Given the description of an element on the screen output the (x, y) to click on. 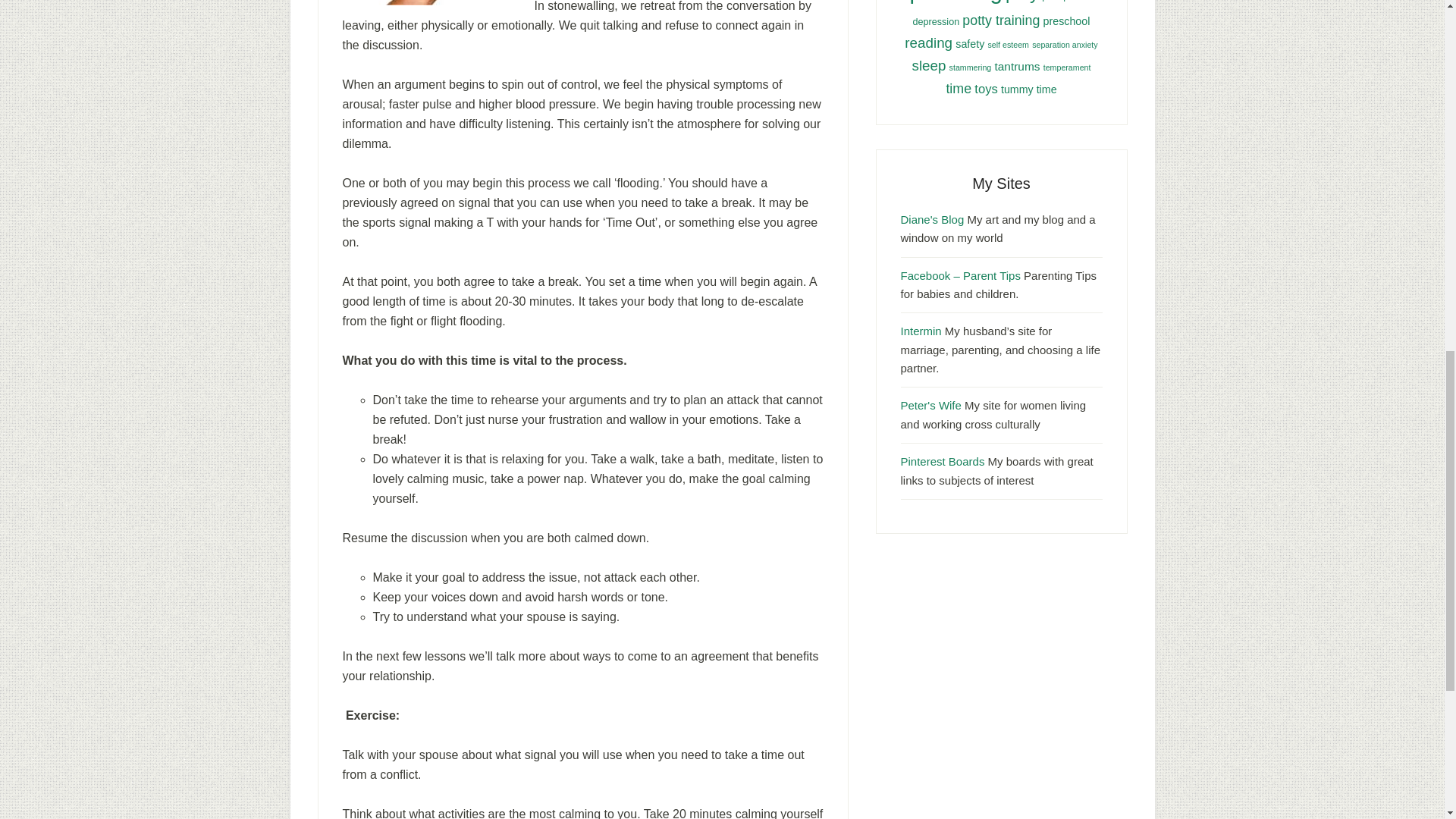
My art and my blog and a window on my world (932, 219)
My site for women living and working cross culturally (930, 404)
My boards with great links to subjects of interest  (943, 461)
Parenting Tips for babies and children. (960, 274)
